Given the description of an element on the screen output the (x, y) to click on. 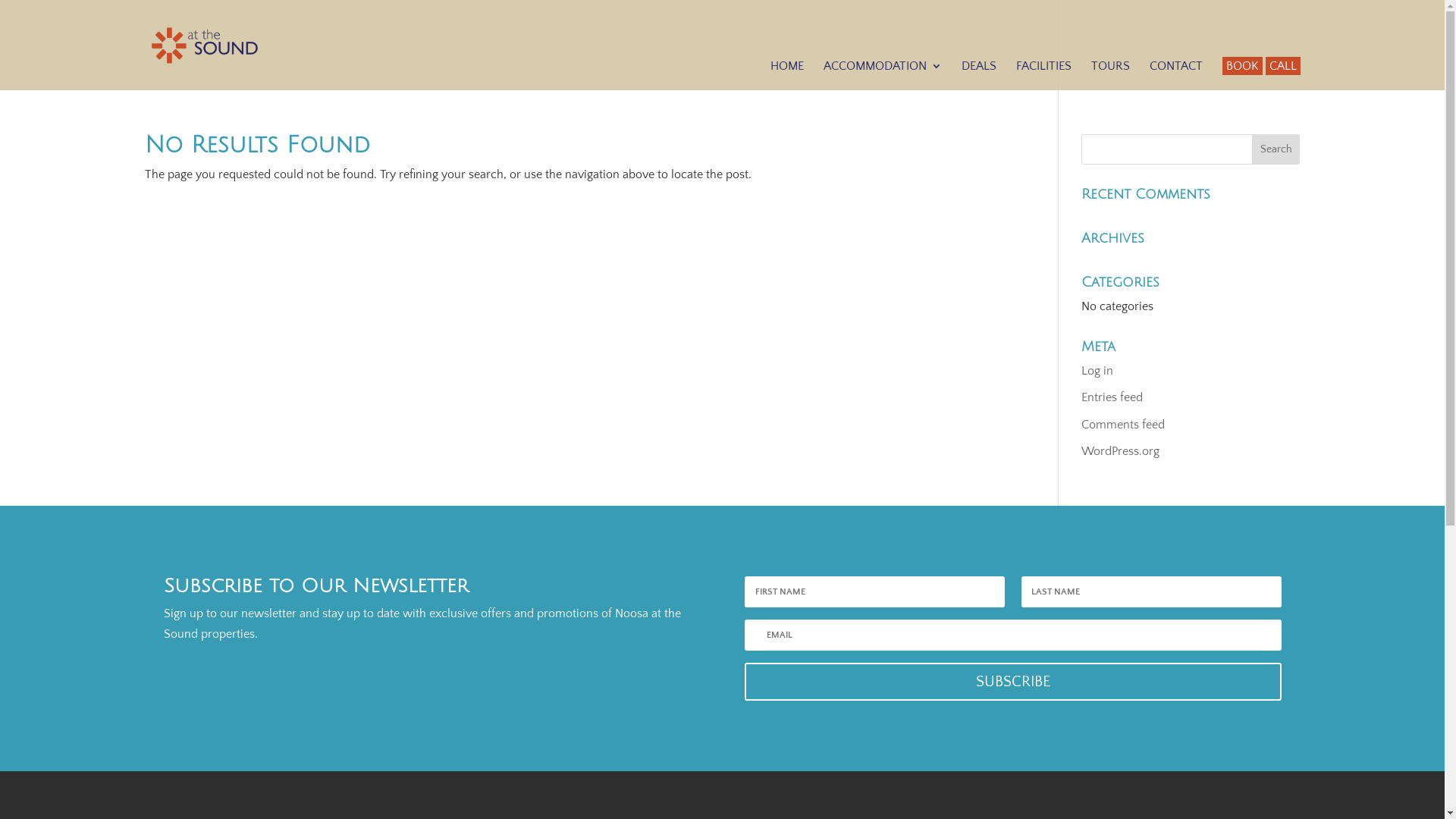
Search Element type: text (1276, 149)
HOME Element type: text (786, 67)
CALL Element type: text (1282, 67)
BOOK Element type: text (1241, 67)
DEALS Element type: text (978, 67)
Comments feed Element type: text (1122, 424)
ACCOMMODATION Element type: text (882, 67)
TOURS Element type: text (1109, 67)
SUBSCRIBE Element type: text (1012, 681)
CONTACT Element type: text (1175, 67)
Log in Element type: text (1097, 370)
Entries feed Element type: text (1111, 397)
WordPress.org Element type: text (1120, 451)
FACILITIES Element type: text (1043, 67)
